Given the description of an element on the screen output the (x, y) to click on. 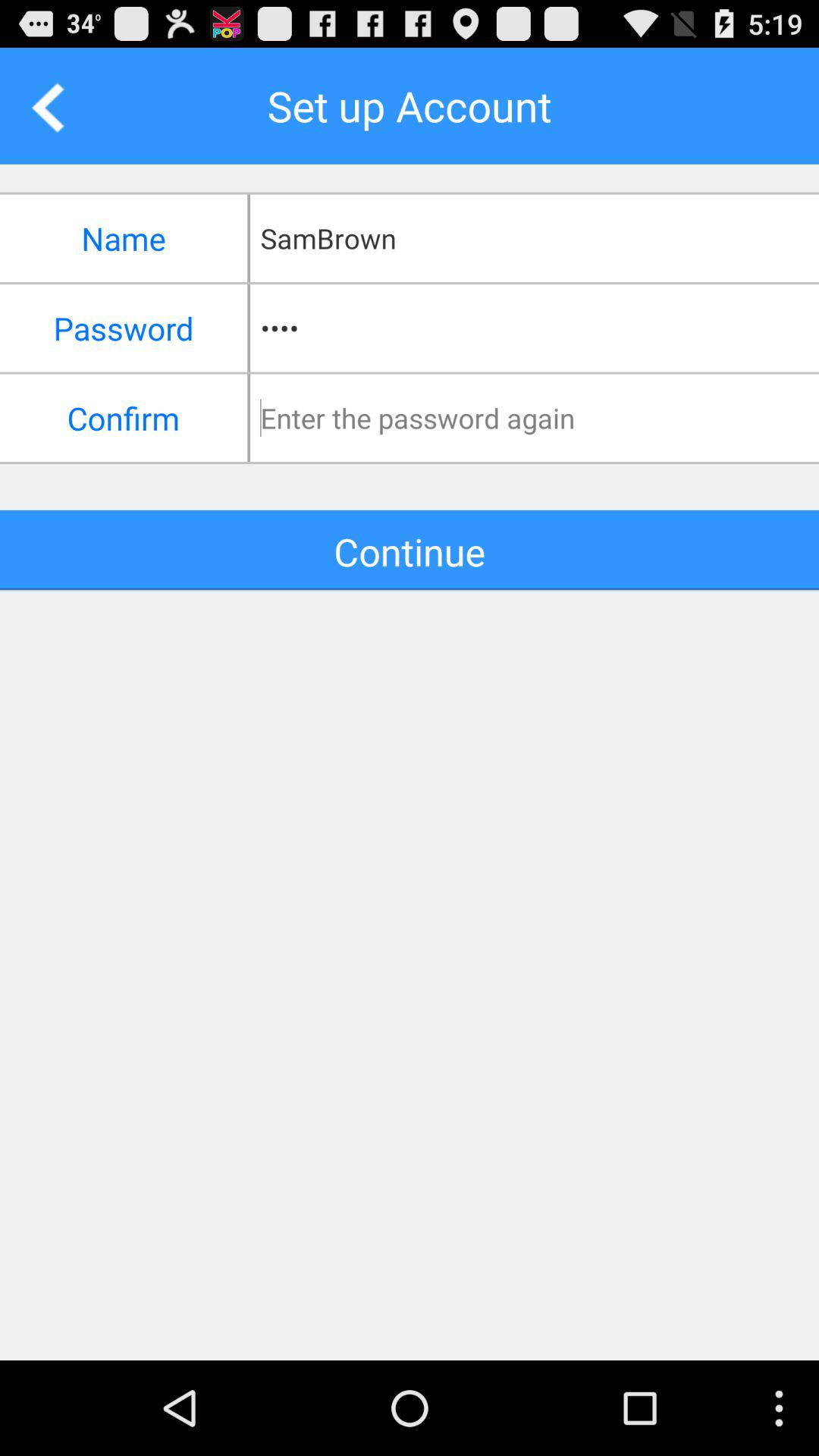
go to text next to blue color text confirm (540, 417)
